Given the description of an element on the screen output the (x, y) to click on. 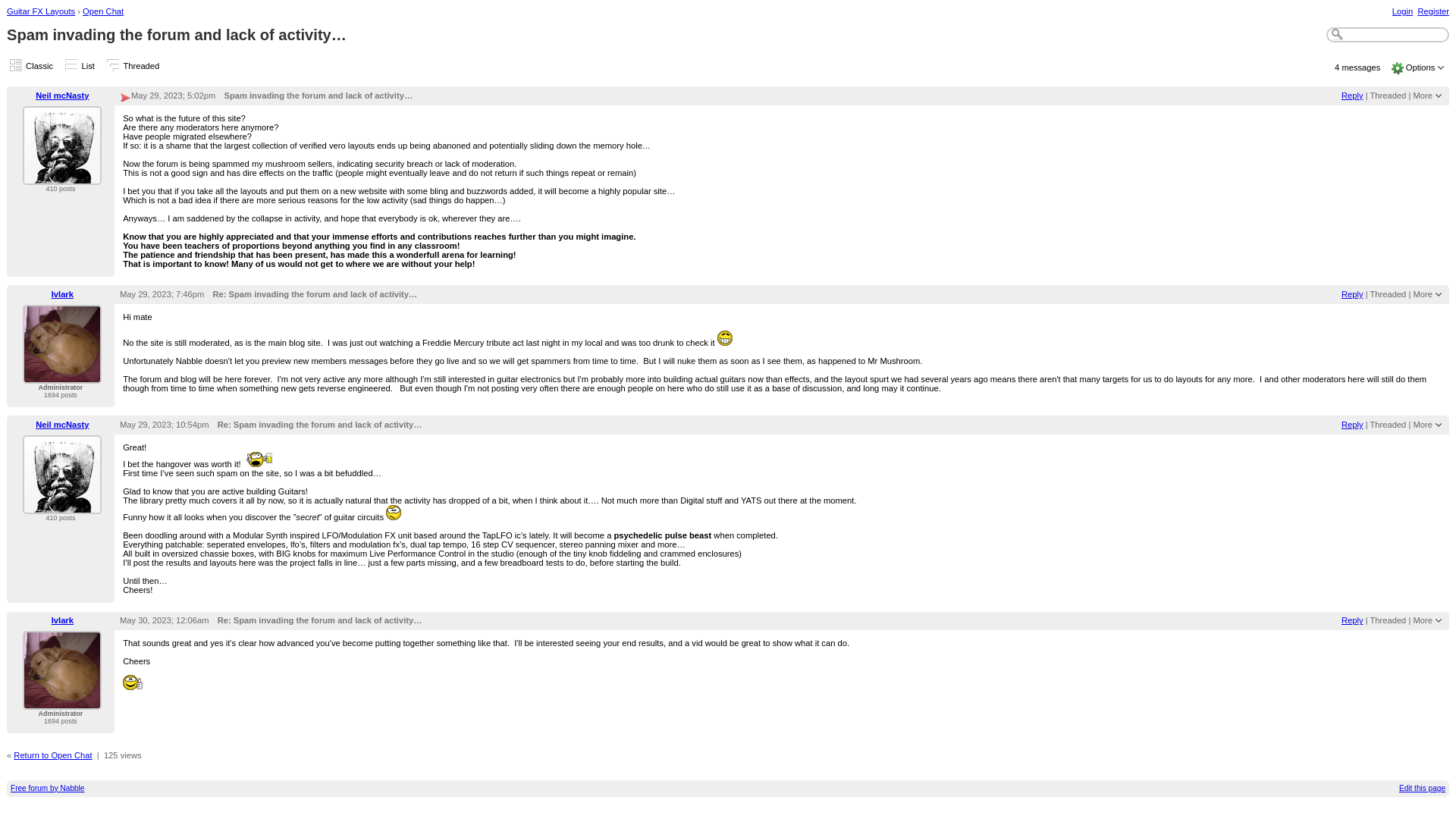
Click for more options (1420, 67)
Options (1420, 67)
Click for more options (1422, 94)
Reply (1351, 94)
Login (1401, 10)
View profile of Neil mcNasty (62, 175)
Neil mcNasty (61, 94)
Threaded (1388, 94)
Neil mcNasty (62, 145)
Threaded (140, 65)
List (87, 65)
Selected post (125, 98)
Open Chat (102, 10)
Click for more options (1422, 293)
Guitar FX Layouts (41, 10)
